Given the description of an element on the screen output the (x, y) to click on. 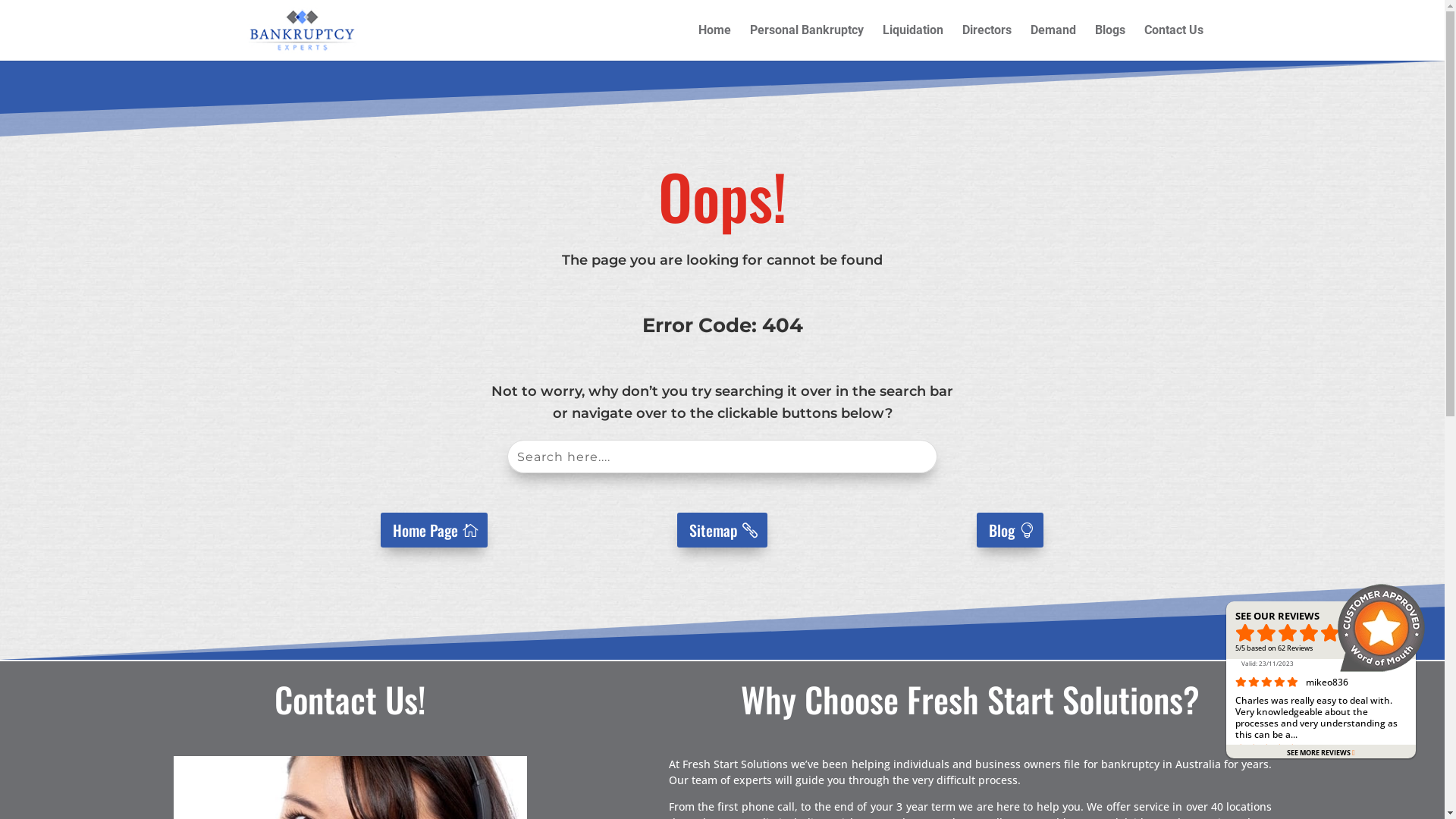
Contact Us Element type: text (1173, 42)
Directors Element type: text (986, 42)
Personal Bankruptcy Element type: text (806, 42)
Home Page Element type: text (433, 529)
Blog Element type: text (1009, 529)
Sitemap Element type: text (721, 529)
Demand Element type: text (1053, 42)
Blogs Element type: text (1110, 42)
Liquidation Element type: text (912, 42)
Home Element type: text (714, 42)
Search Element type: text (29, 15)
